Given the description of an element on the screen output the (x, y) to click on. 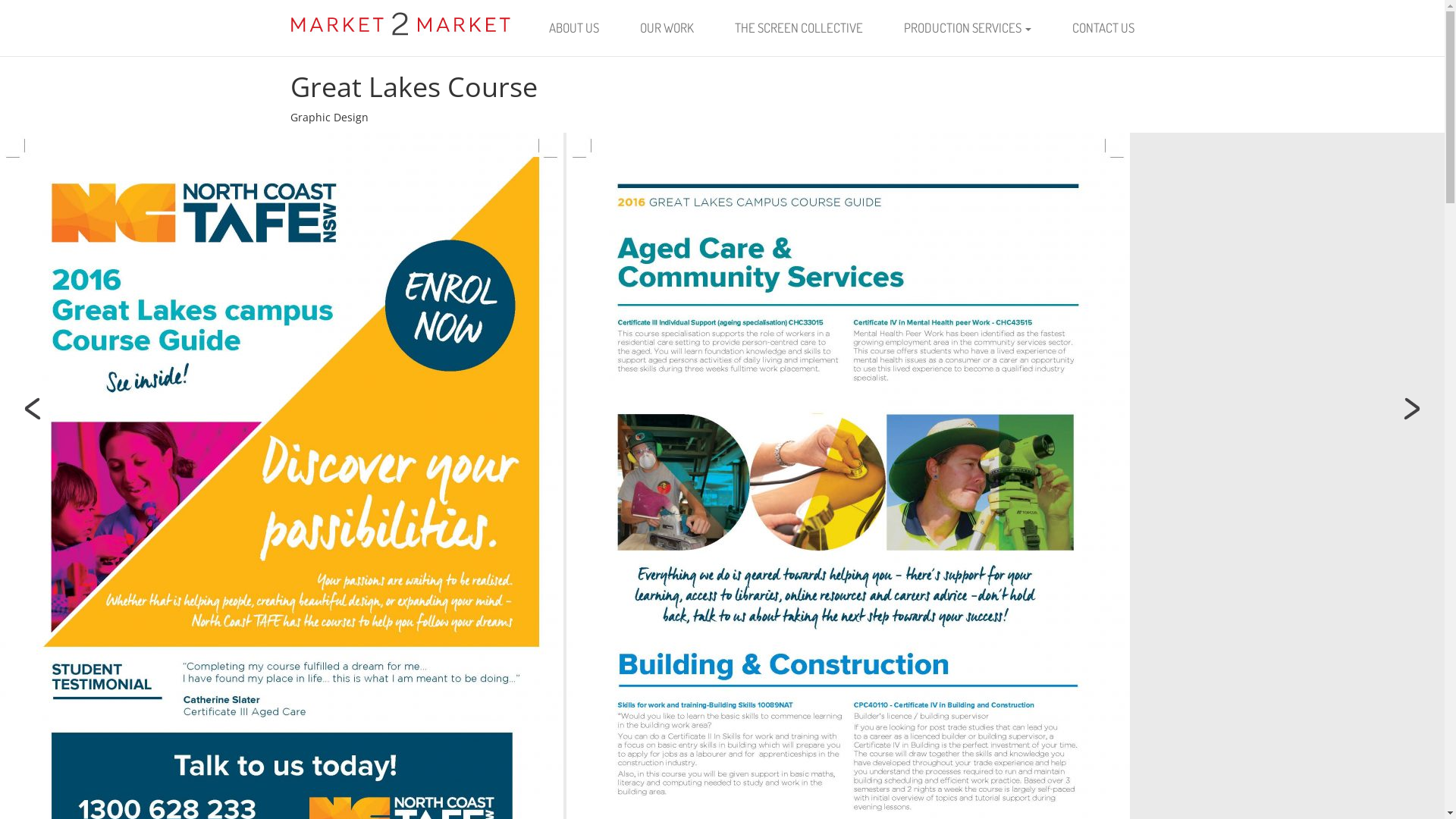
CONTACT US Element type: text (1102, 28)
PRODUCTION SERVICES Element type: text (966, 28)
THE SCREEN COLLECTIVE Element type: text (798, 28)
ABOUT US Element type: text (572, 28)
OUR WORK Element type: text (665, 28)
